Given the description of an element on the screen output the (x, y) to click on. 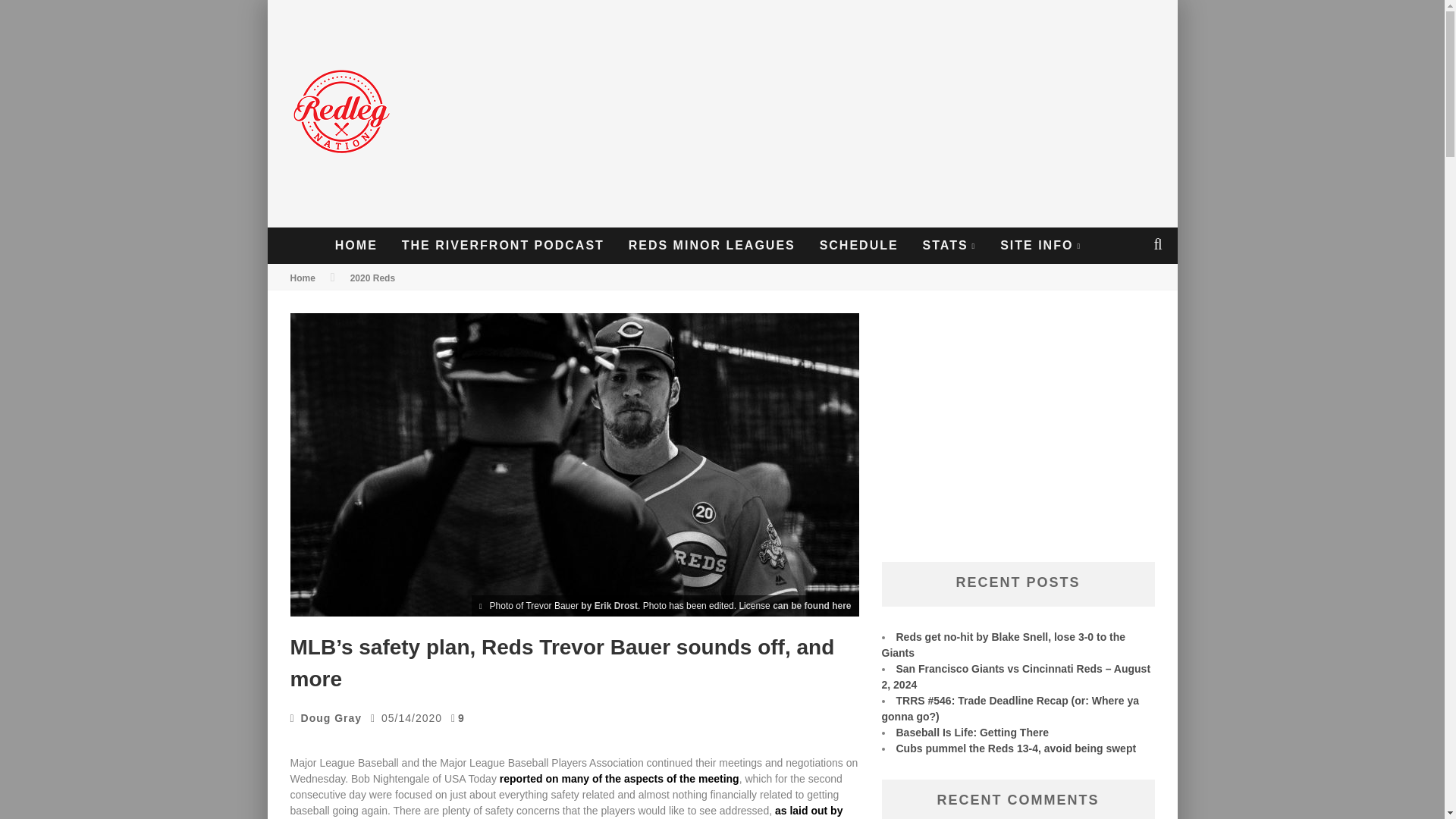
THE RIVERFRONT PODCAST (502, 245)
HOME (355, 245)
View all posts in 2020 Reds (372, 277)
Advertisement (1017, 439)
Advertisement (893, 113)
reported on many of the aspects of the meeting (619, 778)
by Erik Drost (608, 605)
SITE INFO (1040, 245)
SCHEDULE (859, 245)
STATS (949, 245)
can be found here (811, 605)
Home (301, 277)
REDS MINOR LEAGUES (711, 245)
2020 Reds (372, 277)
Doug Gray (331, 717)
